Given the description of an element on the screen output the (x, y) to click on. 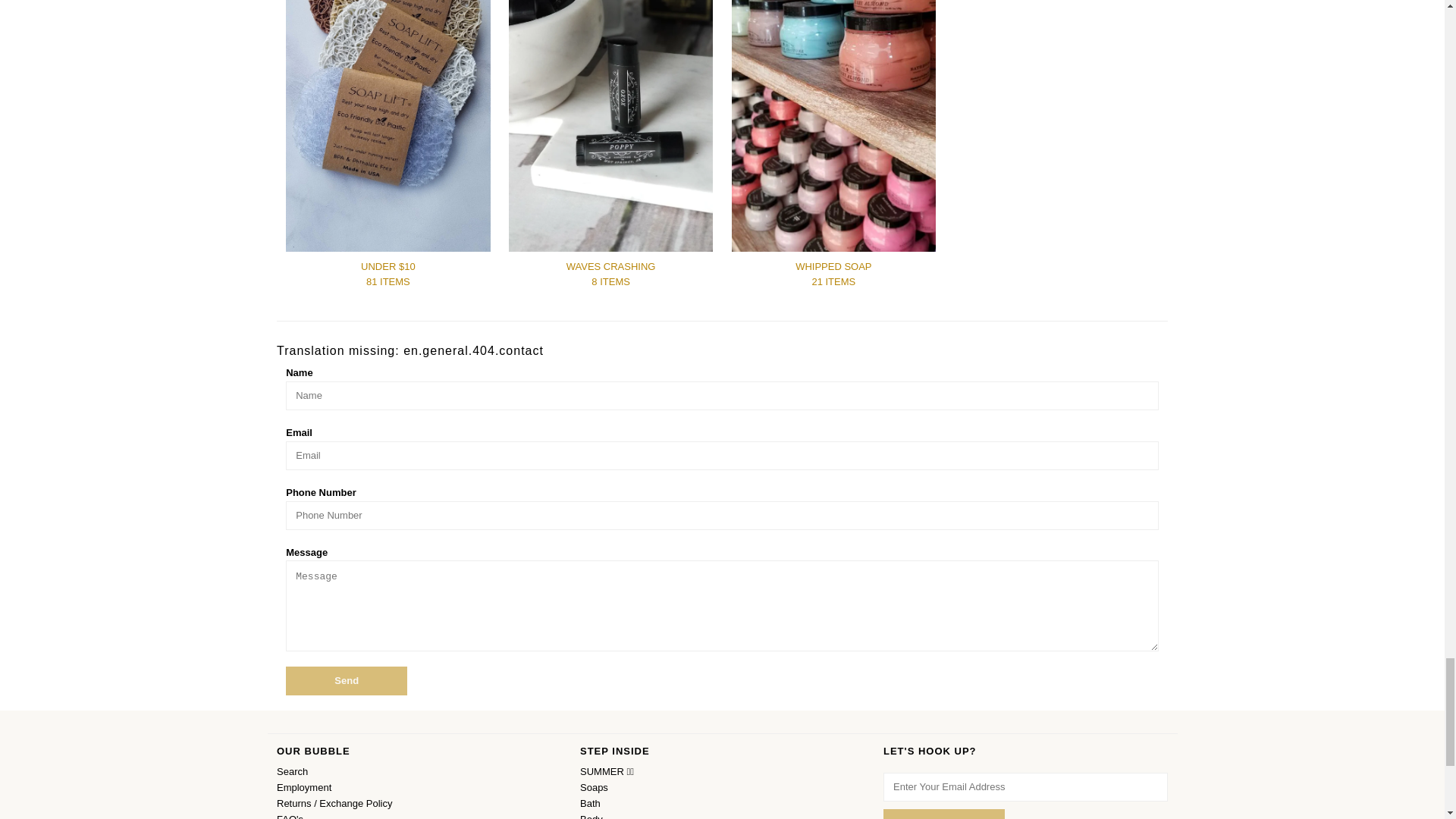
Send (346, 680)
Join (943, 814)
